Given the description of an element on the screen output the (x, y) to click on. 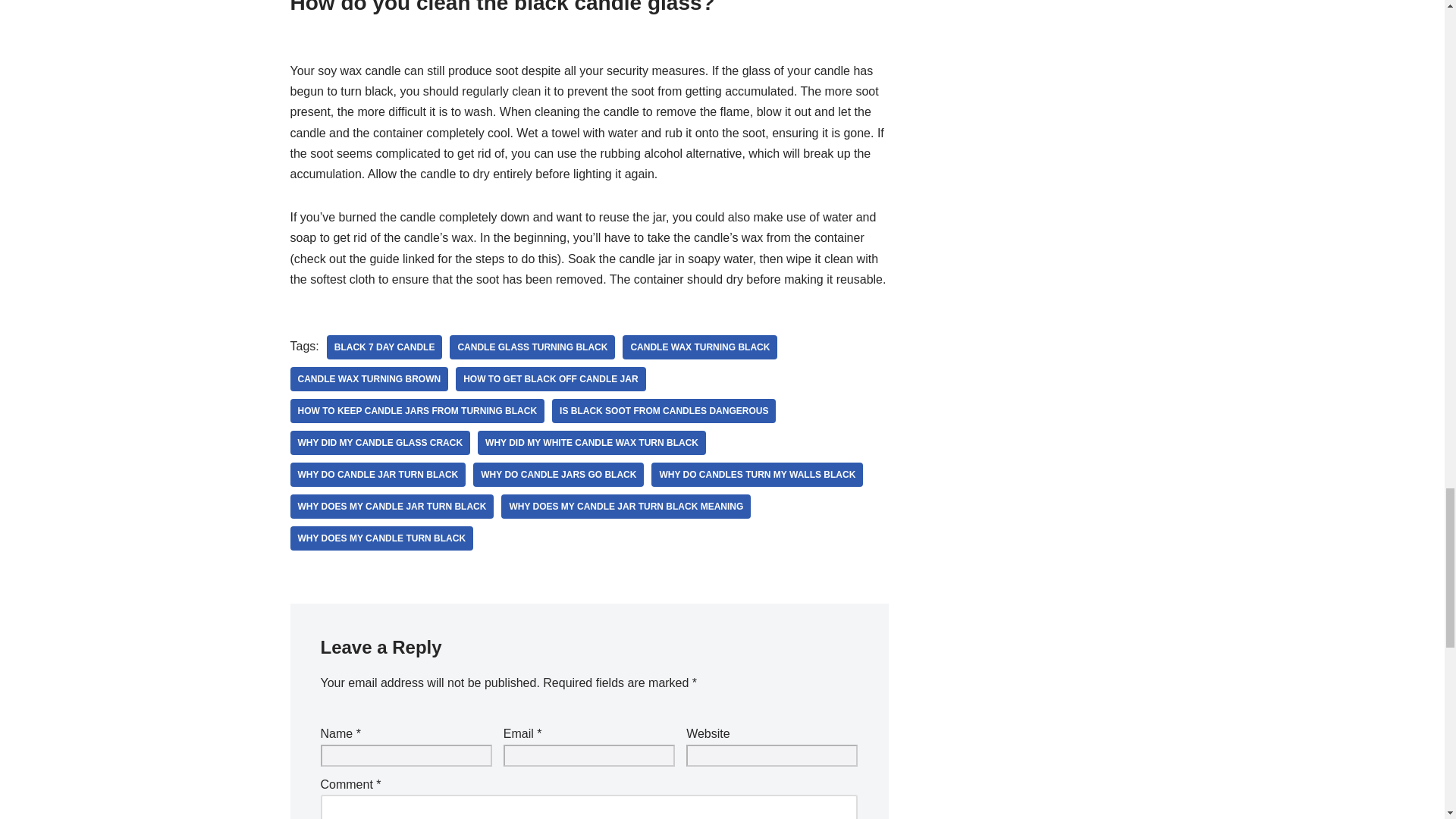
why did my candle glass crack (379, 442)
CANDLE WAX TURNING BROWN (368, 378)
candle wax turning black (700, 346)
BLACK 7 DAY CANDLE (384, 346)
why did my white candle wax turn black (591, 442)
WHY DOES MY CANDLE TURN BLACK (381, 538)
black 7 day candle (384, 346)
CANDLE GLASS TURNING BLACK (531, 346)
WHY DO CANDLES TURN MY WALLS BLACK (756, 474)
is black soot from candles dangerous (663, 410)
WHY DO CANDLE JARS GO BLACK (558, 474)
IS BLACK SOOT FROM CANDLES DANGEROUS (663, 410)
candle glass turning black (531, 346)
WHY DID MY CANDLE GLASS CRACK (379, 442)
WHY DOES MY CANDLE JAR TURN BLACK (391, 506)
